Given the description of an element on the screen output the (x, y) to click on. 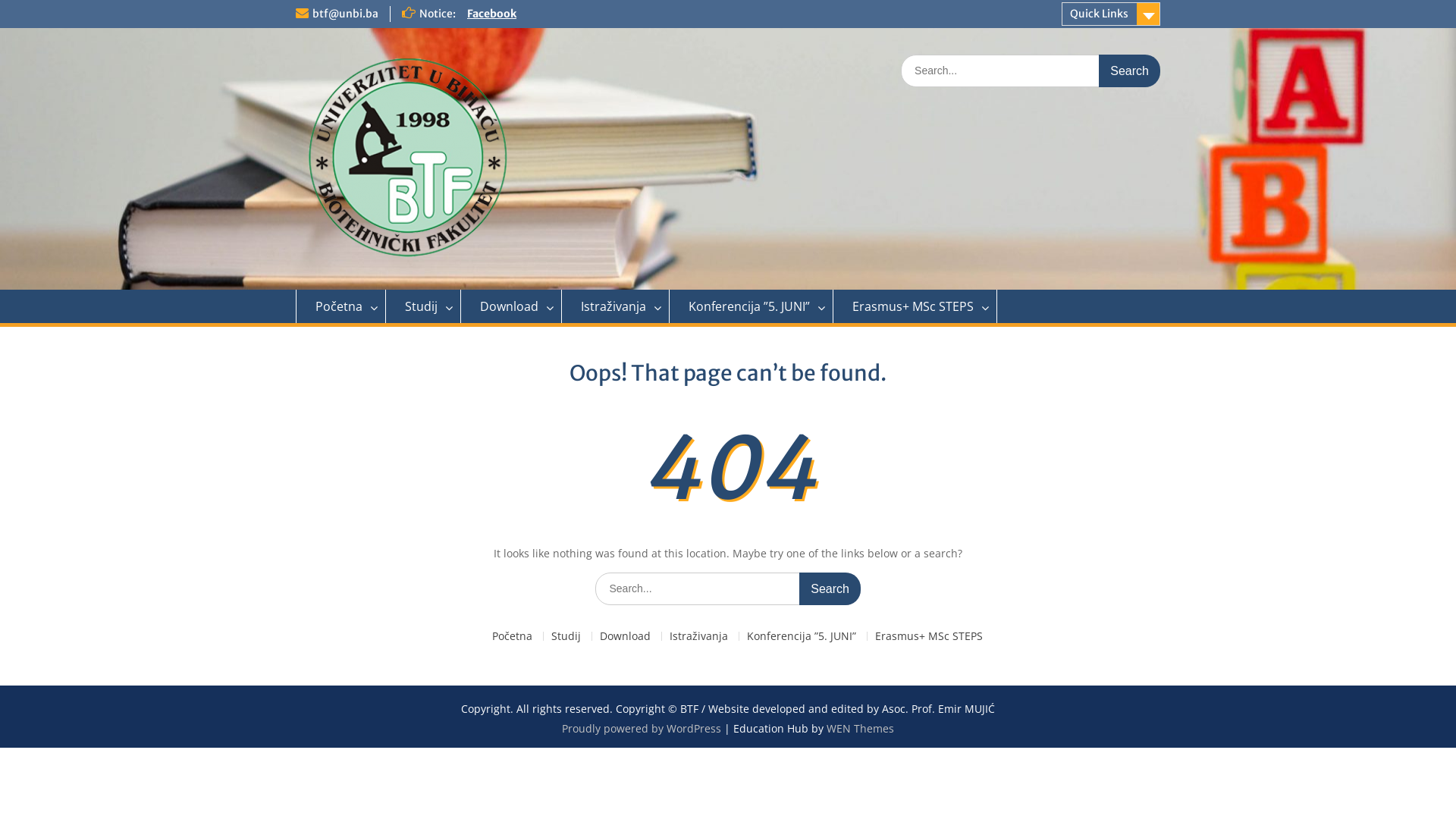
Search Element type: text (829, 587)
Quick Links Element type: text (1110, 13)
Search for: Element type: hover (727, 587)
btf@unbi.ba Element type: text (345, 13)
Search for: Element type: hover (1030, 70)
Search Element type: text (1129, 70)
Download Element type: text (624, 635)
Proudly powered by WordPress Element type: text (641, 727)
Studij Element type: text (565, 635)
Download Element type: text (511, 306)
Studij Element type: text (423, 306)
WEN Themes Element type: text (860, 727)
Erasmus+ MSc STEPS Element type: text (928, 635)
Erasmus+ MSc STEPS Element type: text (915, 306)
Facebook Element type: text (491, 13)
